Given the description of an element on the screen output the (x, y) to click on. 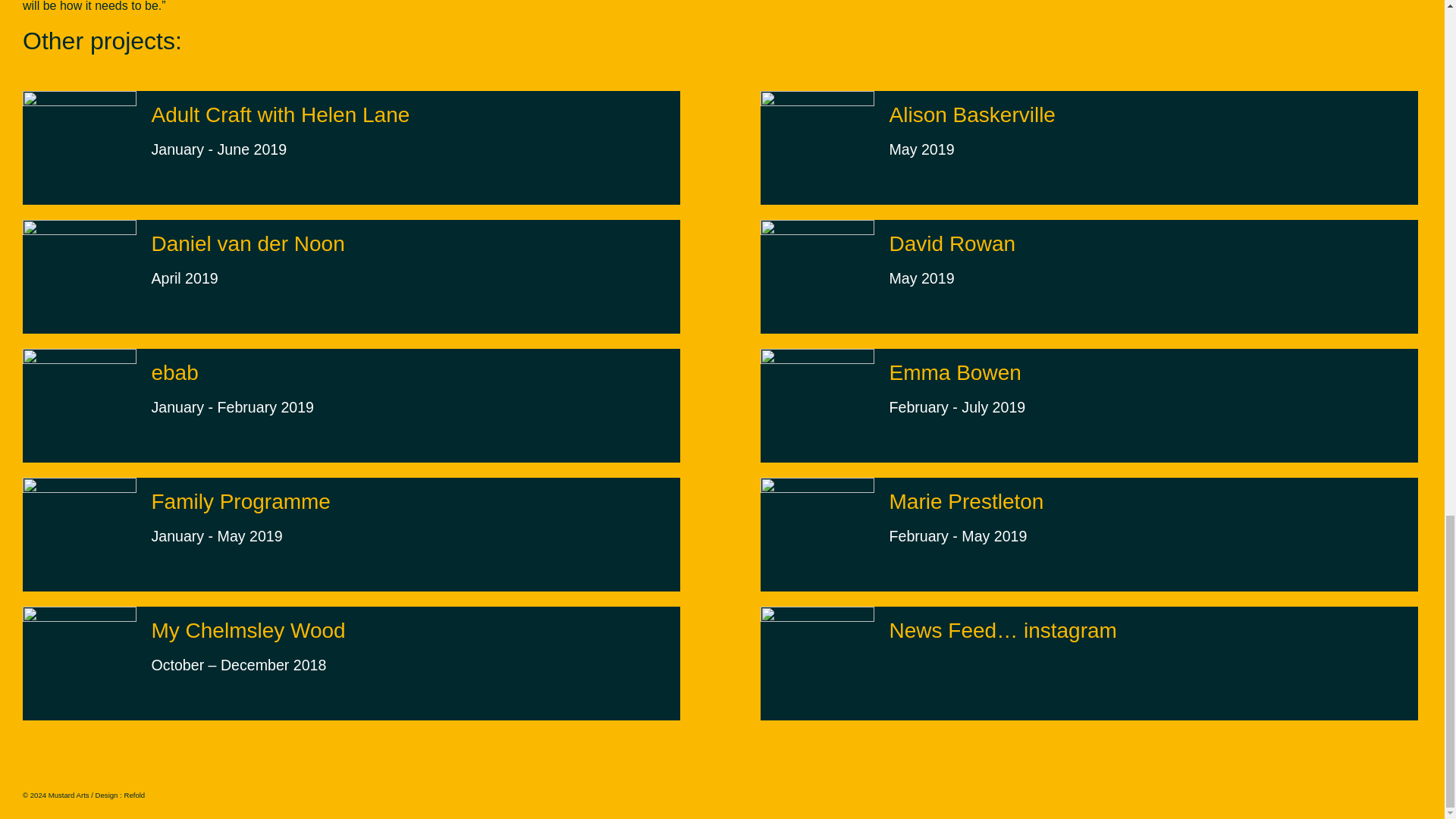
Refold (965, 390)
